Given the description of an element on the screen output the (x, y) to click on. 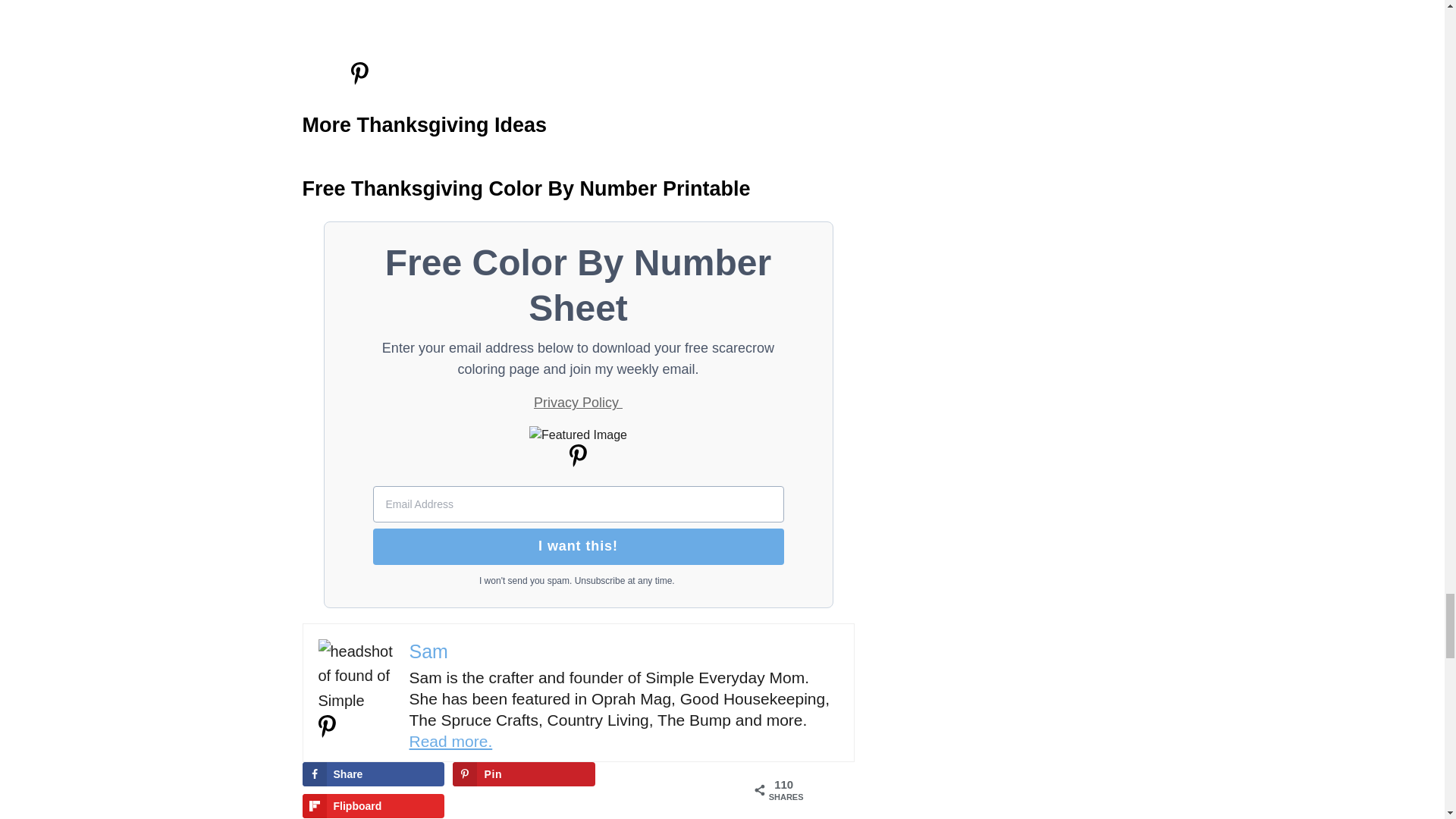
Save to Pinterest (523, 774)
Read more. (451, 741)
Share on Flipboard (372, 805)
Share on Facebook (372, 774)
